Given the description of an element on the screen output the (x, y) to click on. 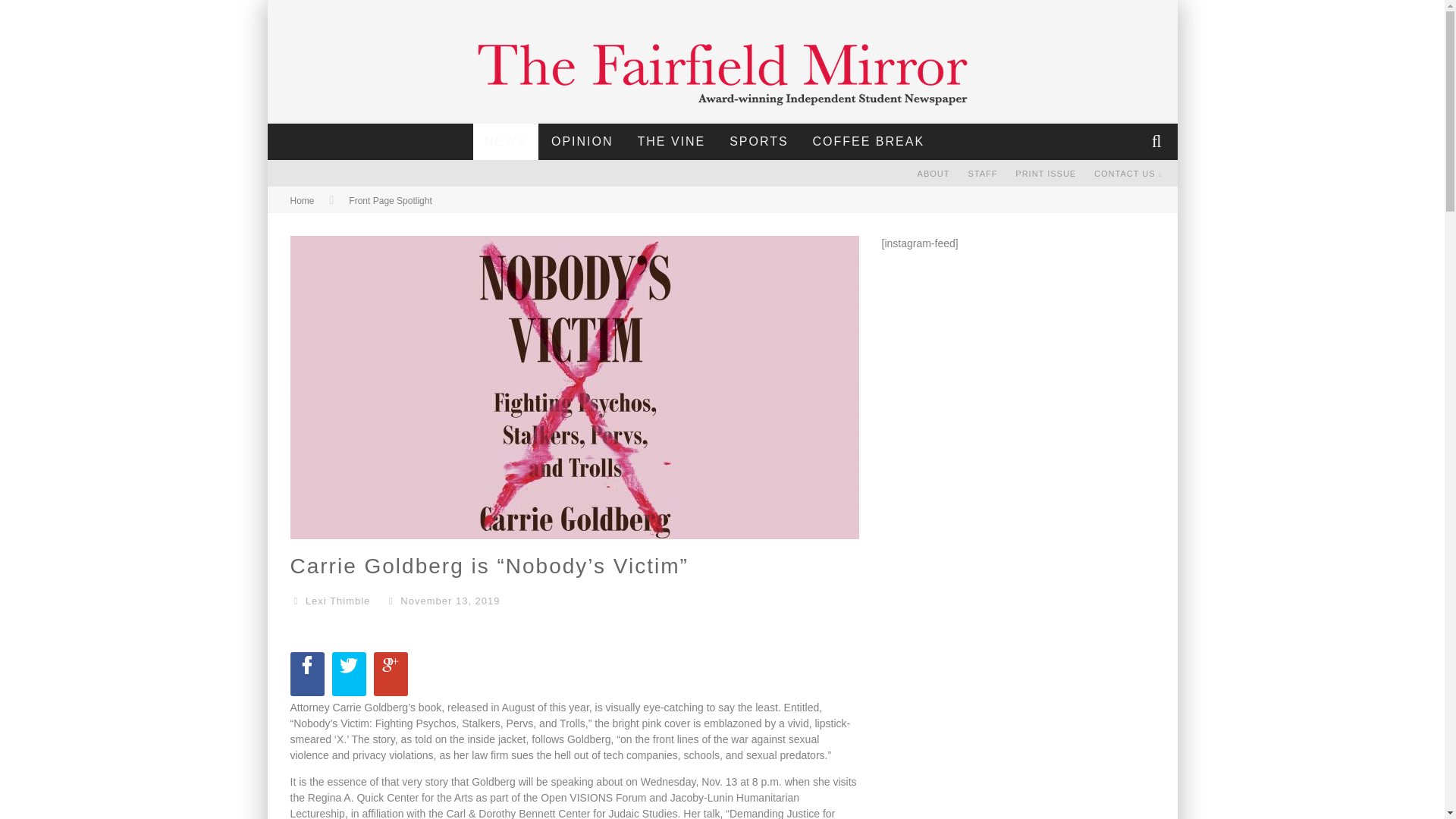
OPINION (582, 141)
View all posts in Front Page Spotlight (389, 200)
NEWS (505, 141)
Search (1158, 141)
